Given the description of an element on the screen output the (x, y) to click on. 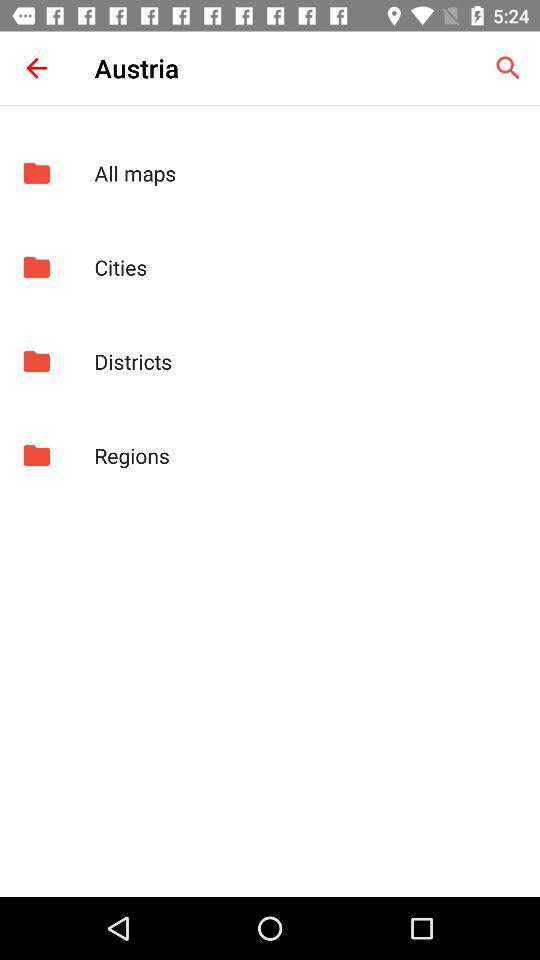
scroll to the all maps (306, 173)
